Given the description of an element on the screen output the (x, y) to click on. 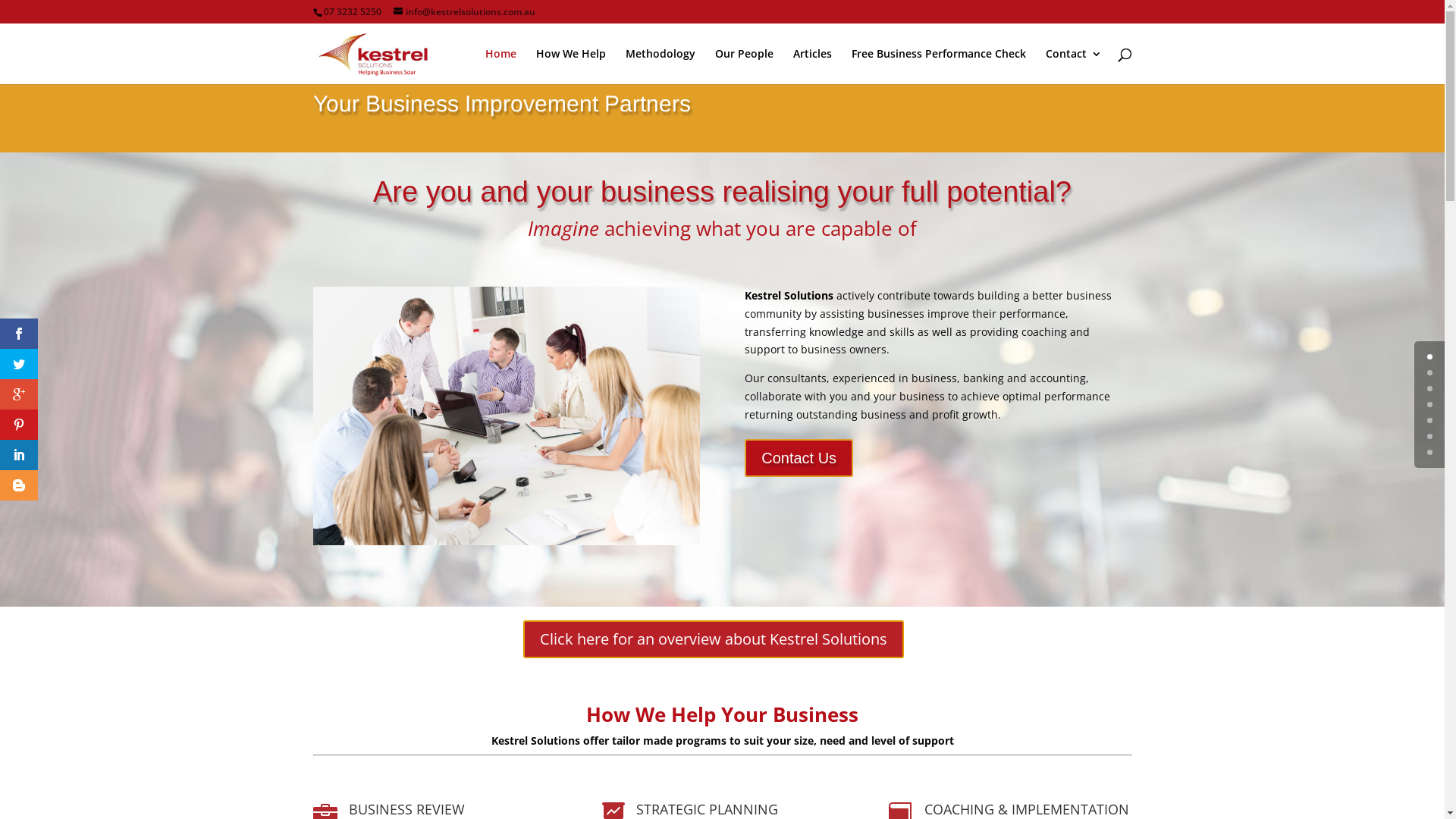
Articles Element type: text (812, 66)
1 Element type: text (1429, 372)
Contact Element type: text (1072, 66)
2 Element type: text (1429, 388)
Contact Us Element type: text (798, 457)
Free Business Performance Check Element type: text (937, 66)
0 Element type: text (1429, 356)
Home Element type: text (500, 66)
Click here for an overview about Kestrel Solutions Element type: text (713, 639)
4 Element type: text (1429, 420)
Methodology Element type: text (659, 66)
6 Element type: text (1429, 452)
5 Element type: text (1429, 436)
How We Help Element type: text (570, 66)
3 Element type: text (1429, 404)
Our People Element type: text (743, 66)
info@kestrelsolutions.com.au Element type: text (463, 11)
